Given the description of an element on the screen output the (x, y) to click on. 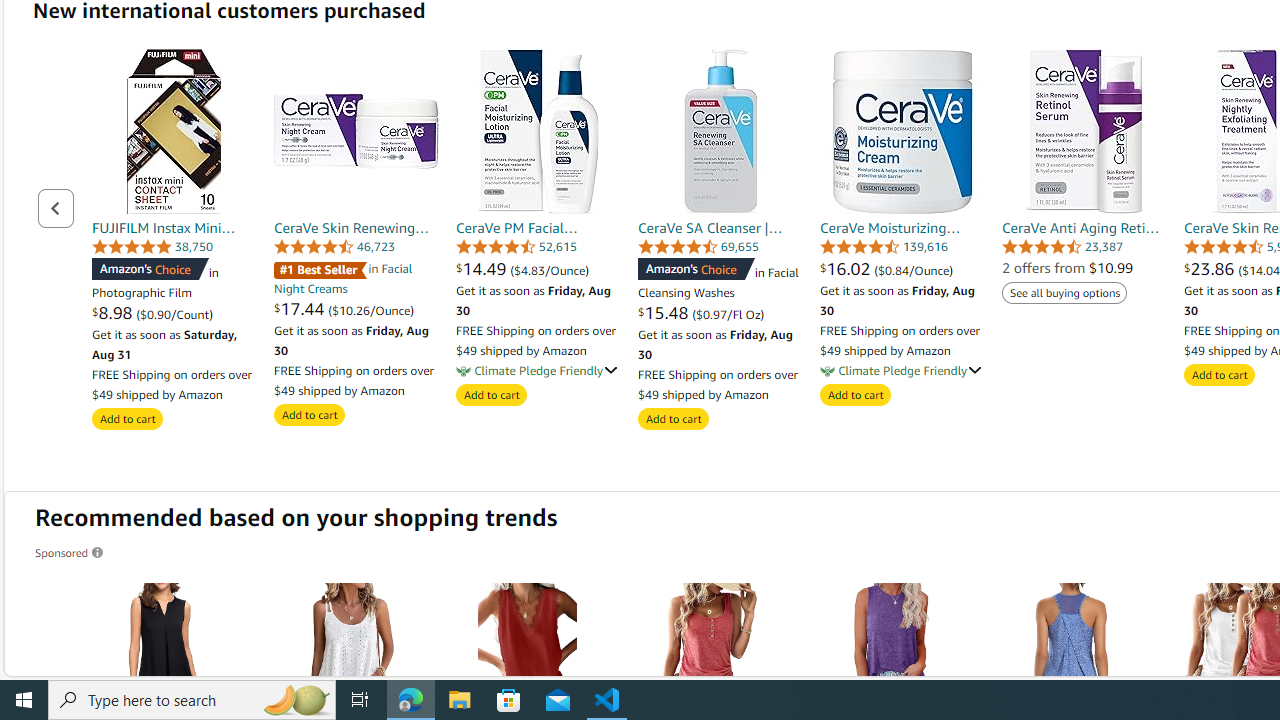
See all buying options (1064, 292)
FUJIFILM Instax Mini Contact Sheet Film - 10 Exposures (174, 130)
($10.26/Ounce) (370, 309)
FUJIFILM Instax Mini Contact Sheet Film - 10 Exposures (174, 130)
$14.49  (482, 268)
Leave feedback on Sponsored ad (70, 552)
